Given the description of an element on the screen output the (x, y) to click on. 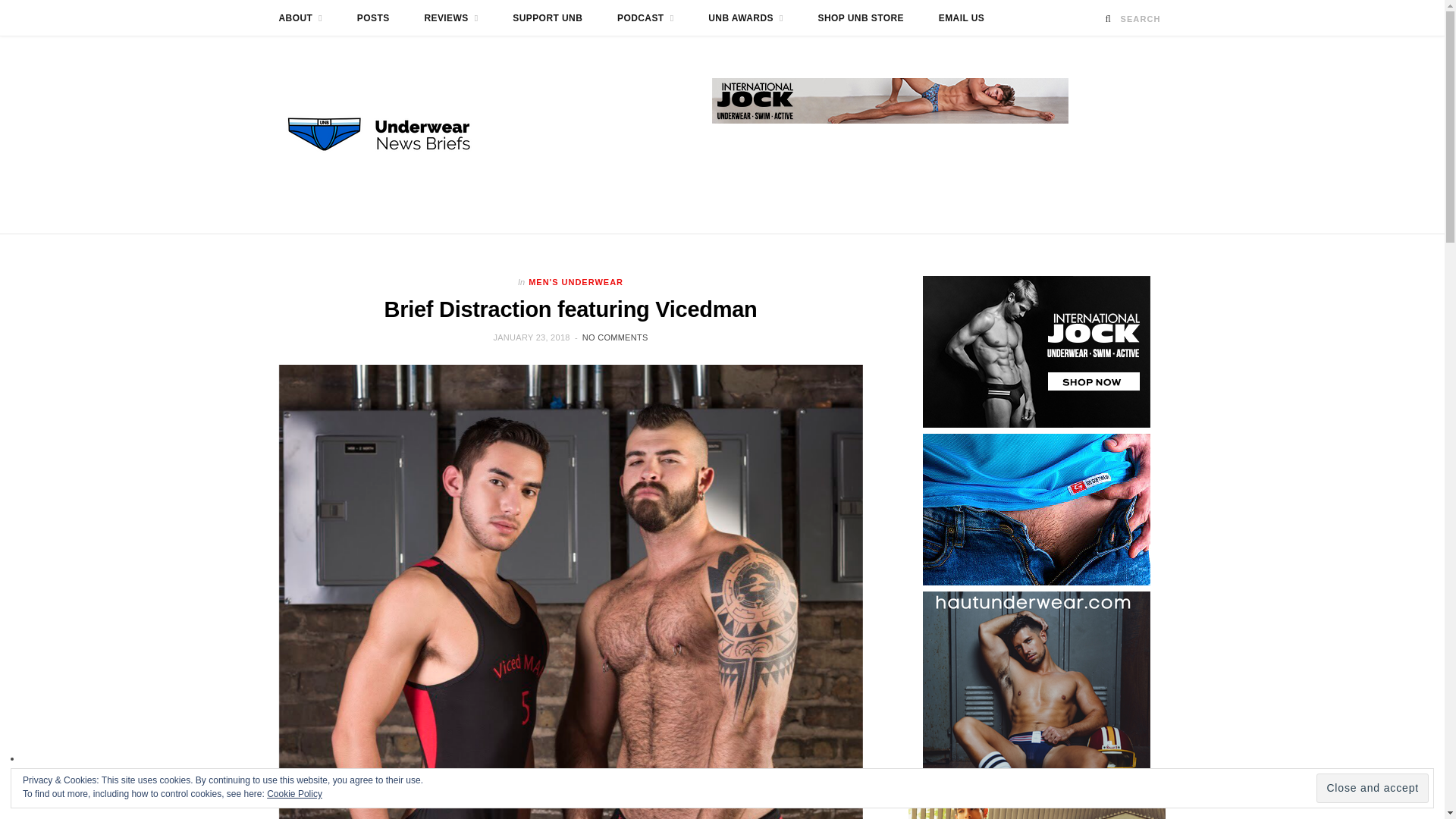
REVIEWS (450, 18)
PODCAST (644, 18)
ABOUT (299, 18)
EMAIL US (961, 18)
SUPPORT UNB (547, 18)
Close and accept (1372, 788)
SHOP UNB STORE (861, 18)
UNB AWARDS (746, 18)
POSTS (373, 18)
Underwear News Briefs (392, 134)
